Given the description of an element on the screen output the (x, y) to click on. 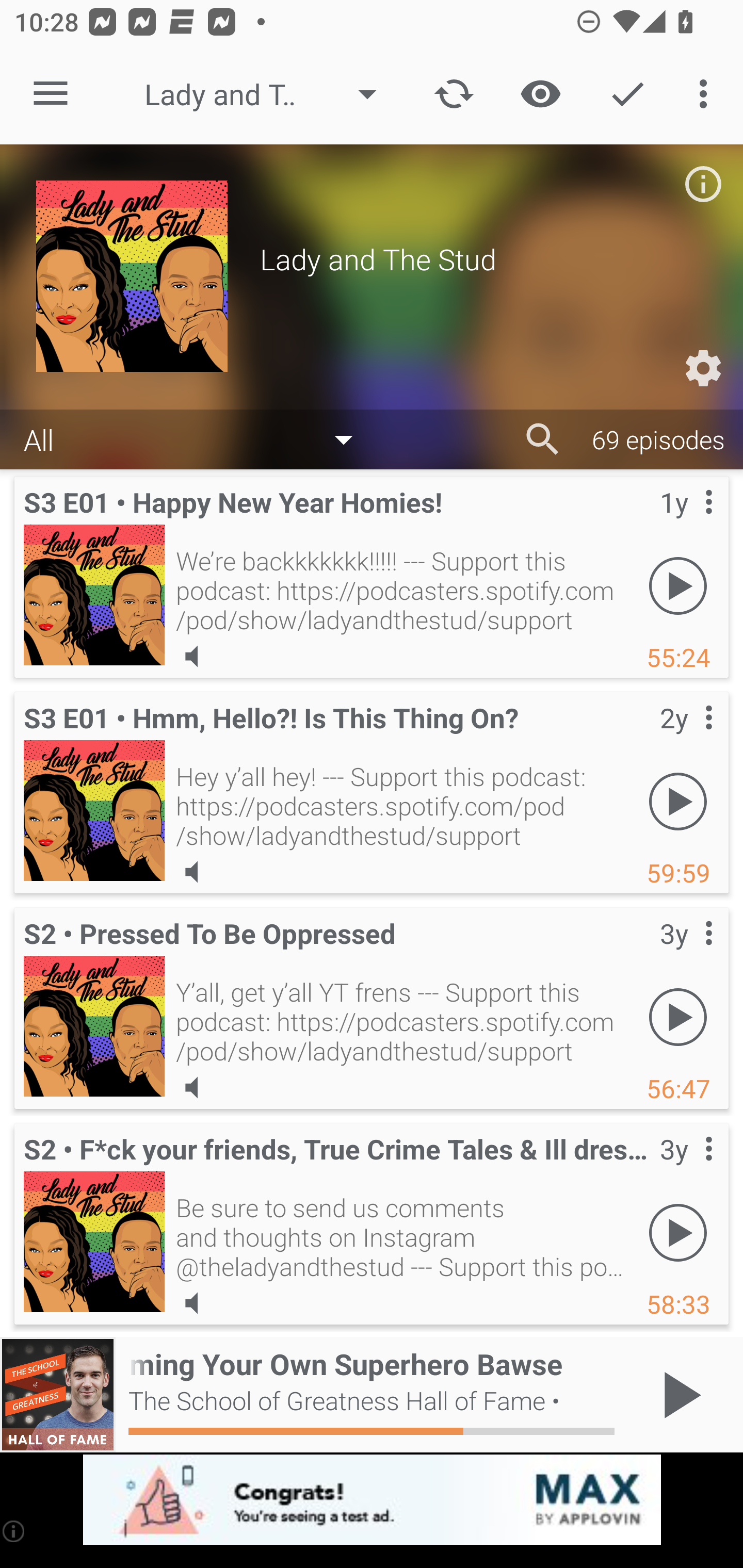
Open navigation sidebar (50, 93)
Update (453, 93)
Show / Hide played content (540, 93)
Action Mode (626, 93)
More options (706, 93)
Lady and The Stud (270, 94)
Podcast description (703, 184)
Custom Settings (703, 368)
Search (542, 439)
All (197, 438)
Contextual menu (685, 522)
Happy New Year Homies! (93, 594)
Play (677, 585)
Contextual menu (685, 738)
Hmm, Hello?! Is This Thing On? (93, 810)
Play (677, 801)
Contextual menu (685, 954)
Pressed To Be Oppressed (93, 1026)
Play (677, 1016)
Contextual menu (685, 1169)
Play (677, 1232)
Play / Pause (677, 1394)
app-monetization (371, 1500)
(i) (14, 1531)
